Given the description of an element on the screen output the (x, y) to click on. 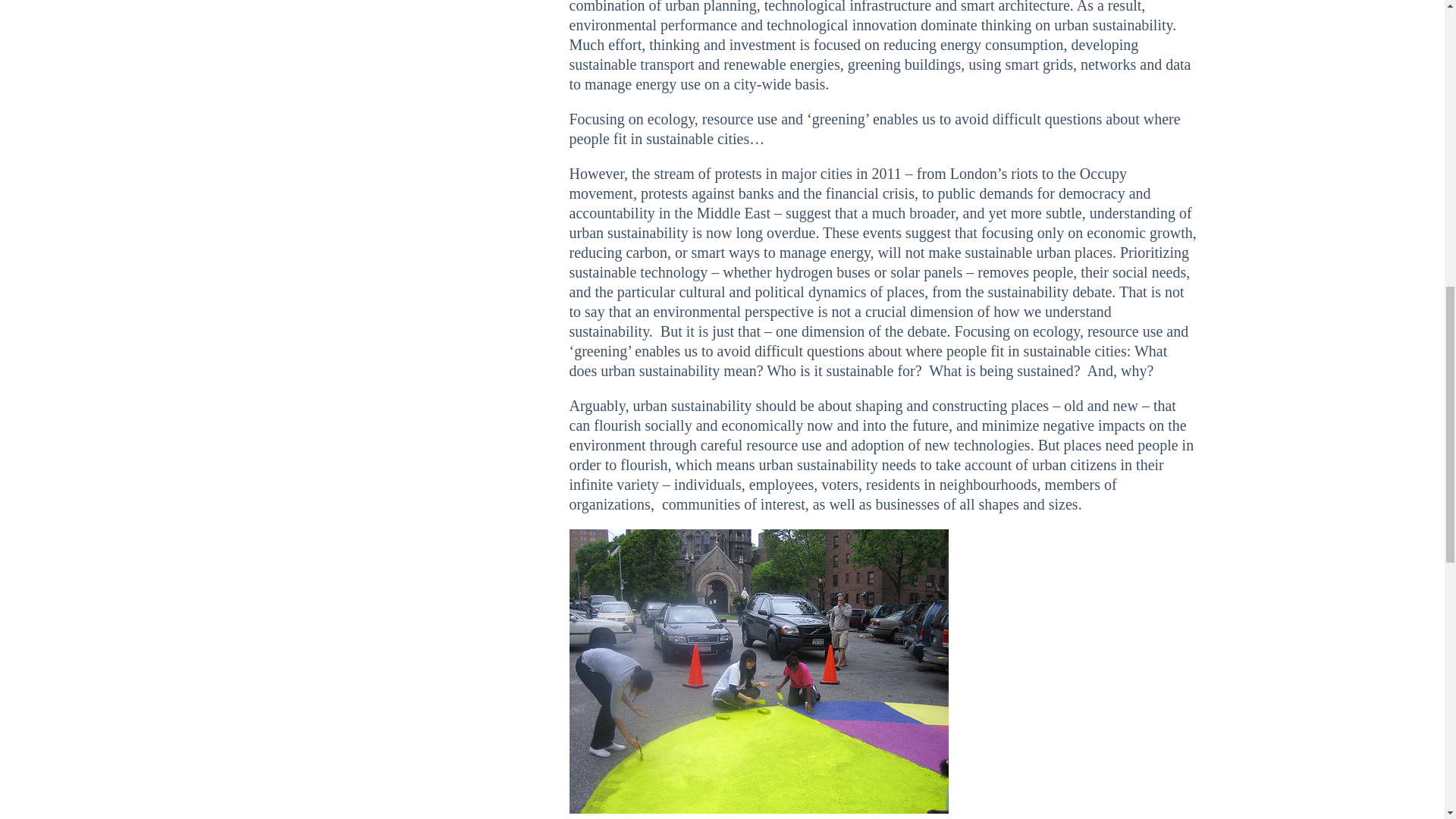
greening buildings (903, 64)
Of the People, By the People, For the People (1120, 444)
Occupied: The Interview (847, 183)
When Architecture and Planning Mix: BIM and GIS (1015, 6)
A New Green Infrastructure Agenda in Philadelphia (903, 64)
places need people (1120, 444)
Sustainable Cities Through Big Box Development (1074, 351)
Occupy movement (847, 183)
sustainable cities (1074, 351)
